Given the description of an element on the screen output the (x, y) to click on. 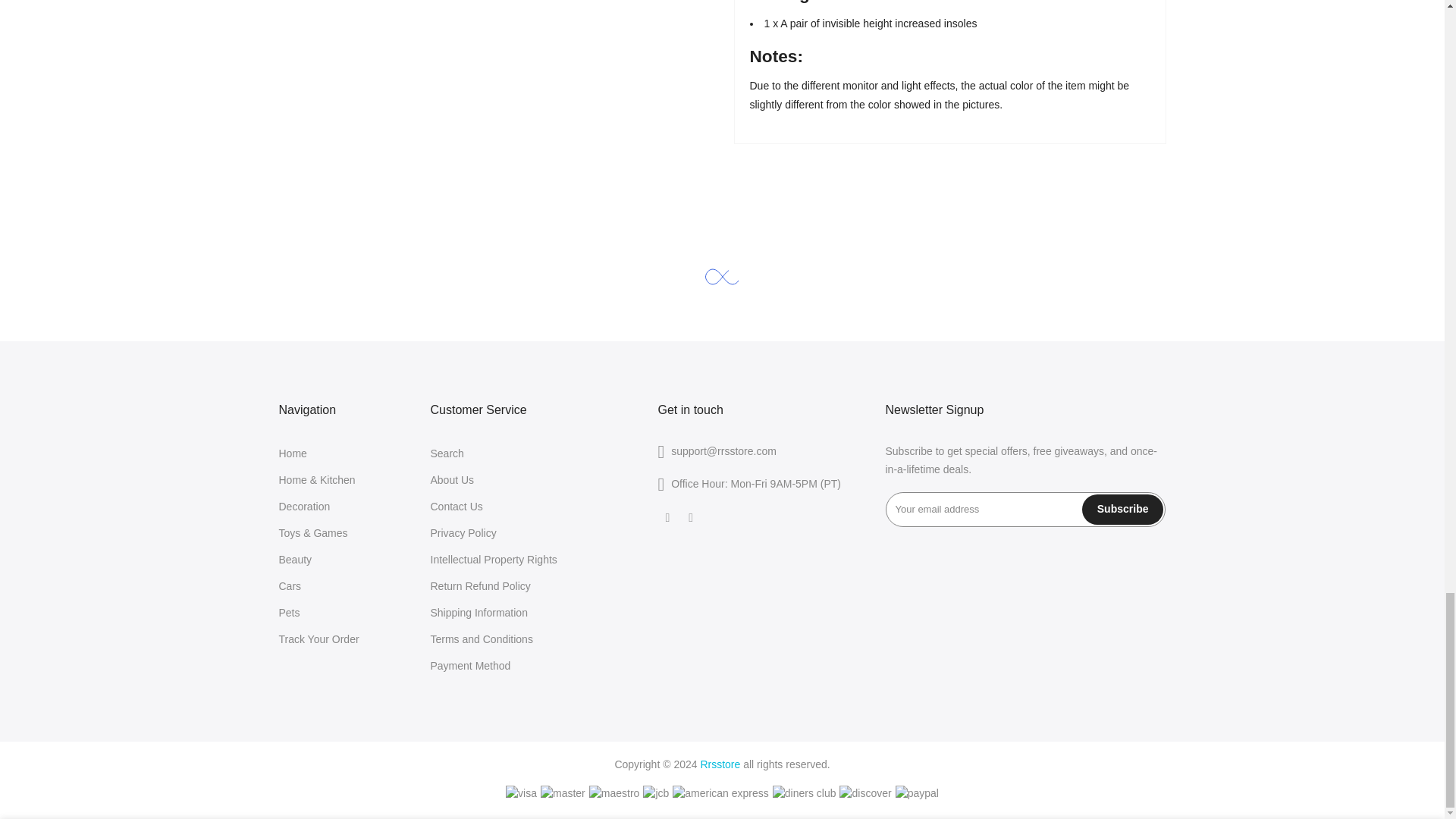
About Us (452, 480)
Beauty (296, 558)
Search (447, 452)
Home (293, 452)
Pets (289, 612)
Track Your Order (319, 639)
Decoration (304, 505)
Cars (290, 585)
